Given the description of an element on the screen output the (x, y) to click on. 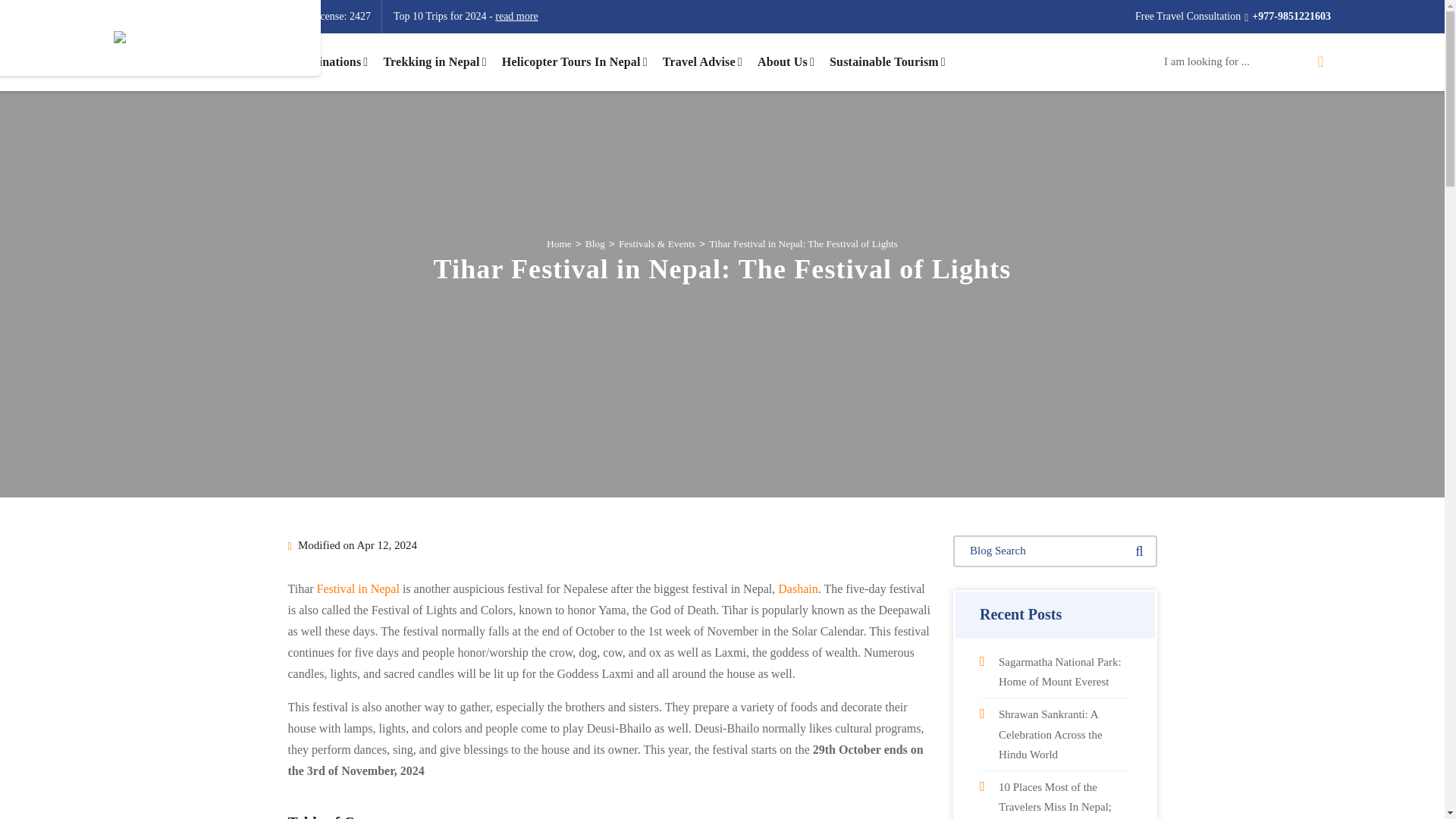
read more (516, 16)
Destinations (331, 61)
Trekking in Nepal (434, 61)
Destinations (331, 61)
